Given the description of an element on the screen output the (x, y) to click on. 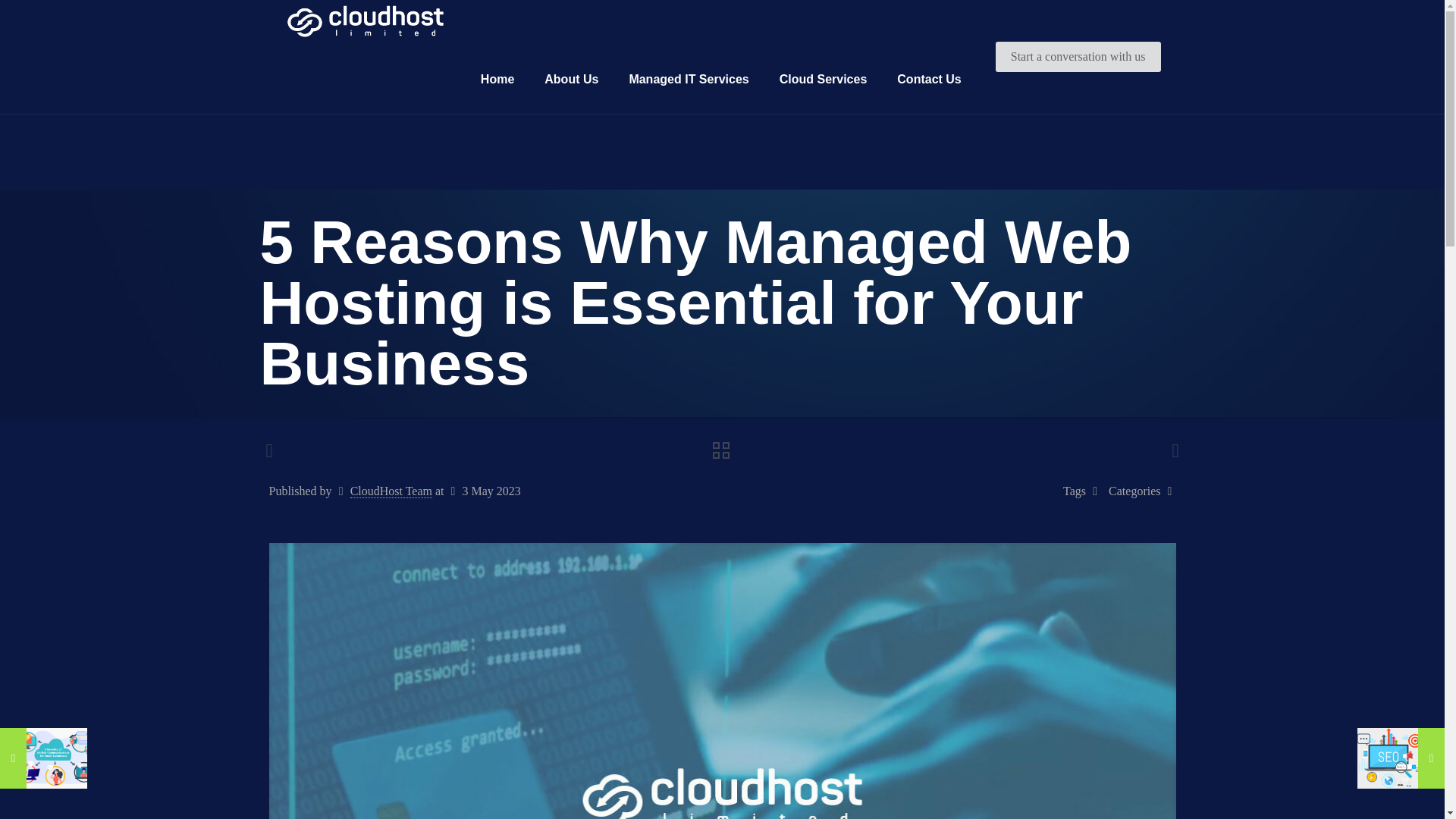
Home (497, 79)
Cloud Services (823, 79)
CloudHost Limited (364, 22)
CloudHost Team (391, 490)
About Us (570, 79)
Contact Us (928, 79)
Managed IT Services (687, 79)
Start a conversation with us (1077, 56)
